Given the description of an element on the screen output the (x, y) to click on. 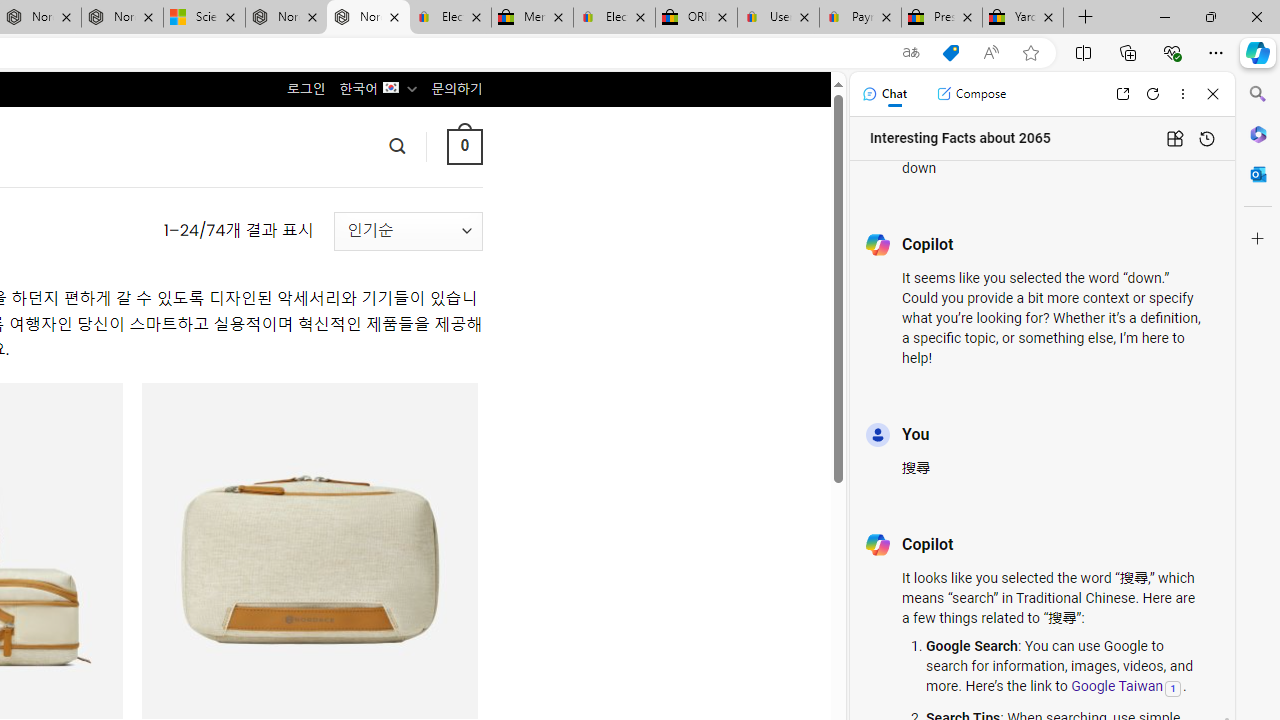
Payments Terms of Use | eBay.com (860, 17)
Nordace - Summer Adventures 2024 (285, 17)
This site has coupons! Shopping in Microsoft Edge (950, 53)
  0   (464, 146)
Compose (971, 93)
User Privacy Notice | eBay (778, 17)
Chat (884, 93)
